Given the description of an element on the screen output the (x, y) to click on. 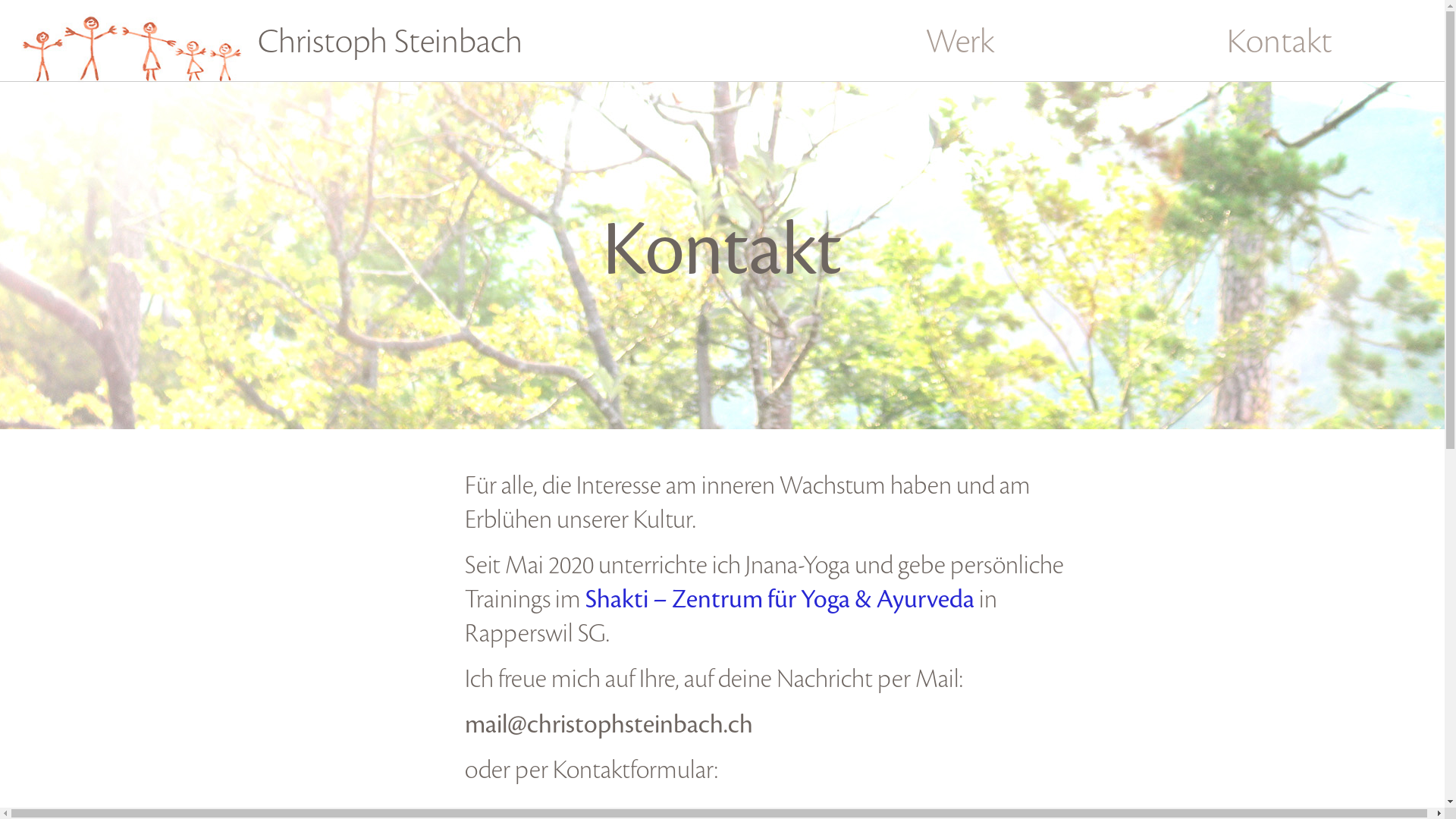
Werk Element type: text (960, 43)
Christoph Steinbach Element type: text (336, 43)
Kontakt Element type: text (1279, 43)
